Given the description of an element on the screen output the (x, y) to click on. 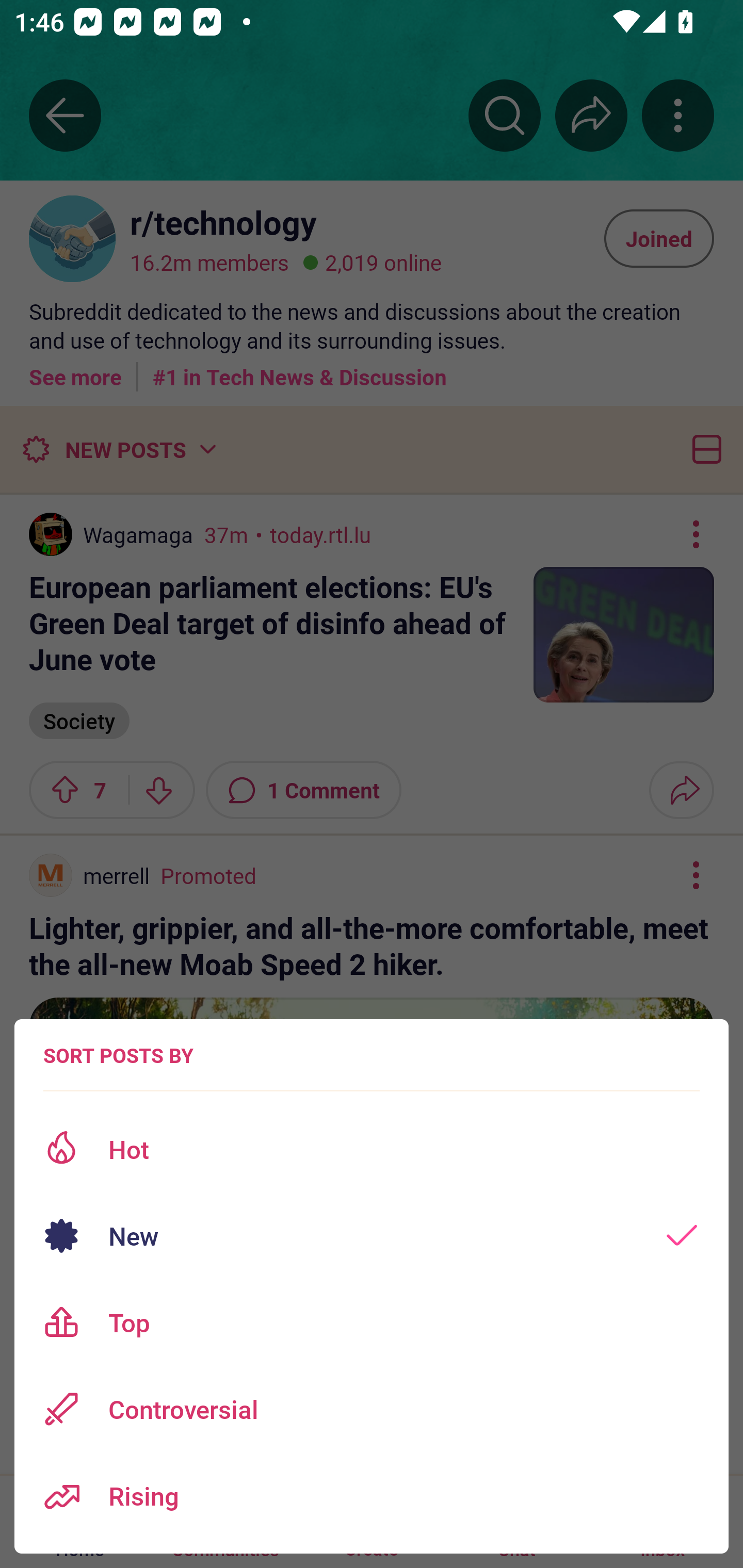
SORT POSTS BY Sort posts options (118, 1055)
Hot (371, 1149)
New (371, 1236)
Top (371, 1322)
Controversial (371, 1408)
Rising (371, 1495)
